Given the description of an element on the screen output the (x, y) to click on. 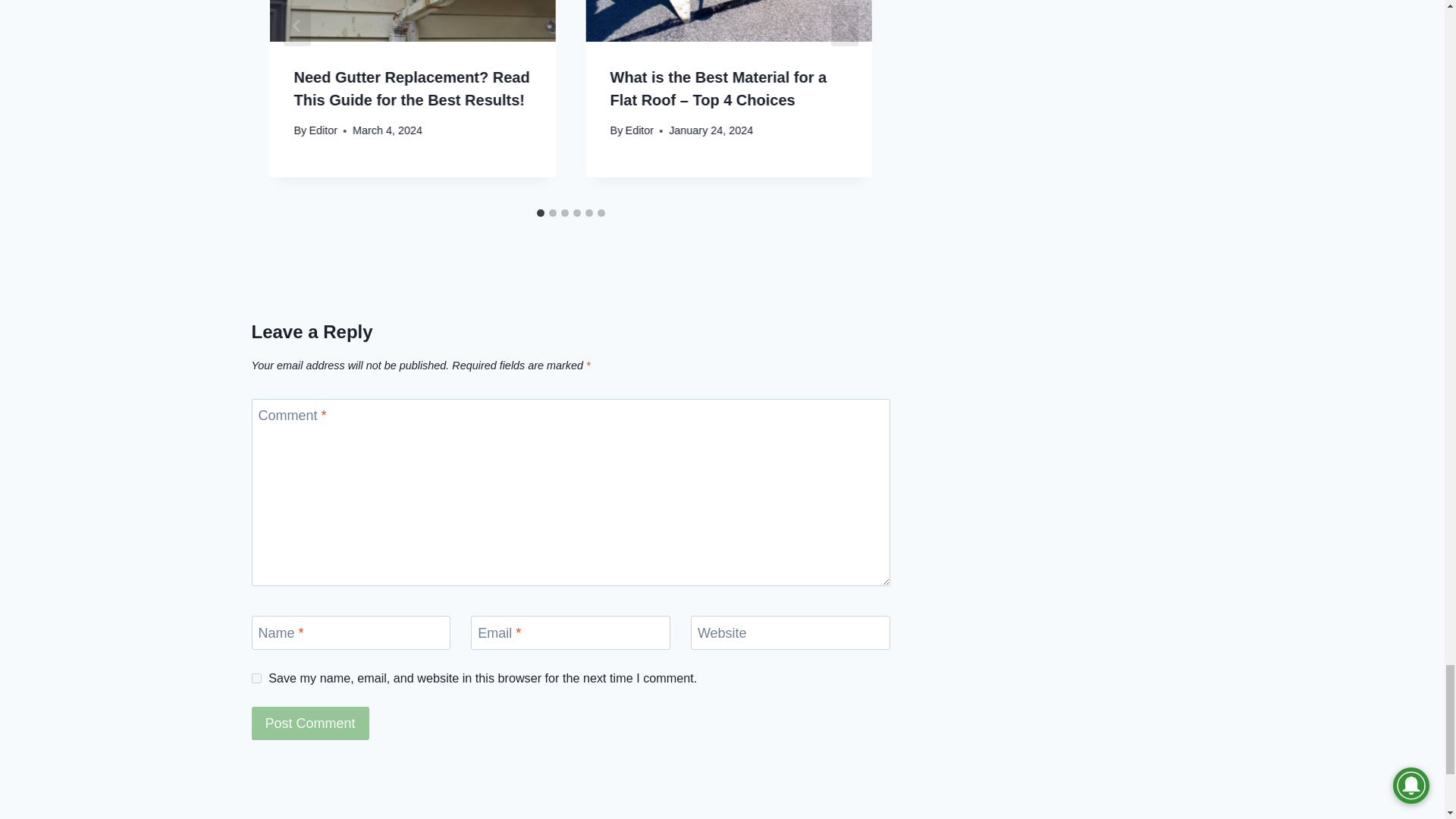
Post Comment (310, 722)
yes (256, 678)
